Given the description of an element on the screen output the (x, y) to click on. 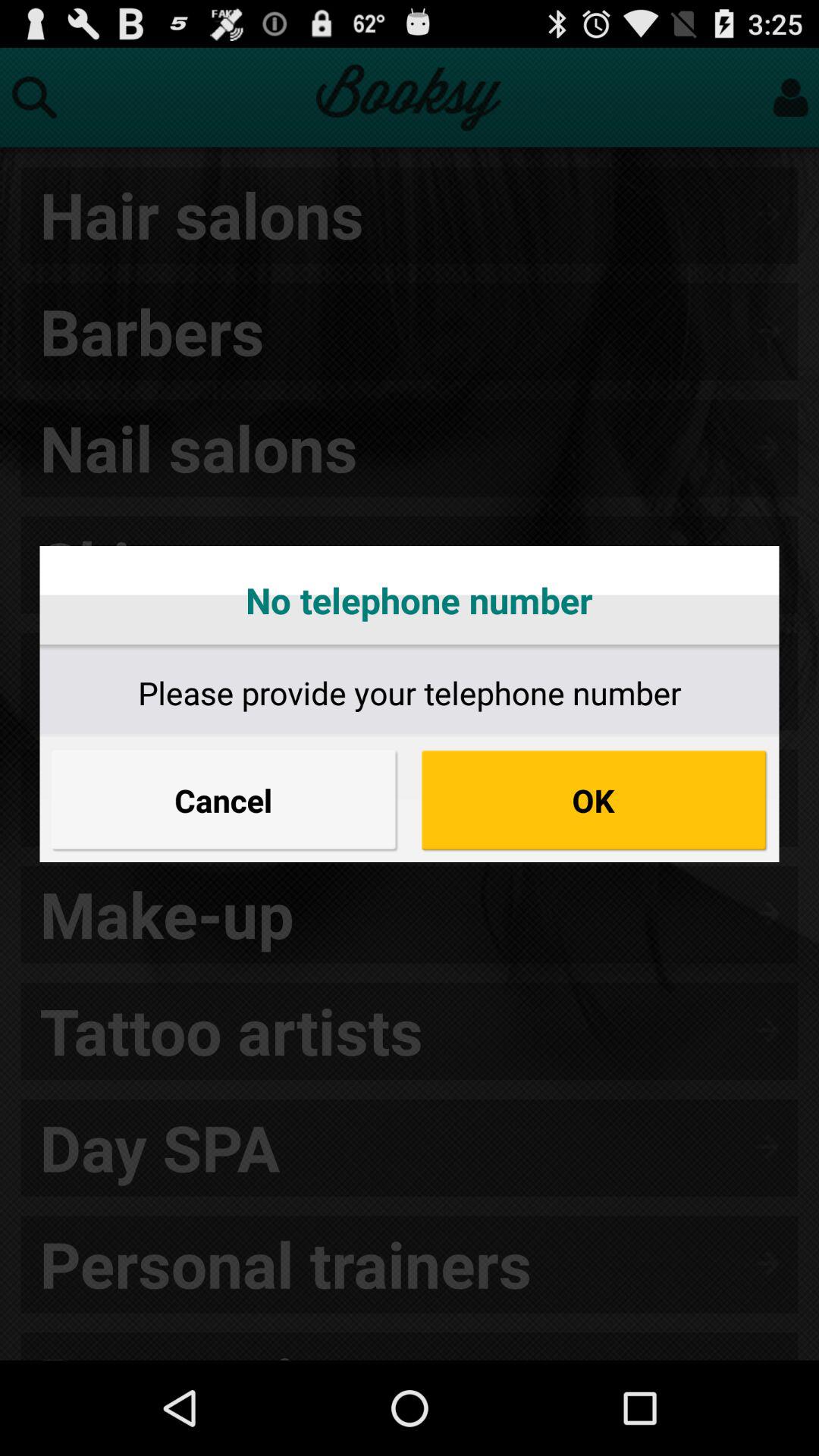
scroll to the ok (593, 799)
